Given the description of an element on the screen output the (x, y) to click on. 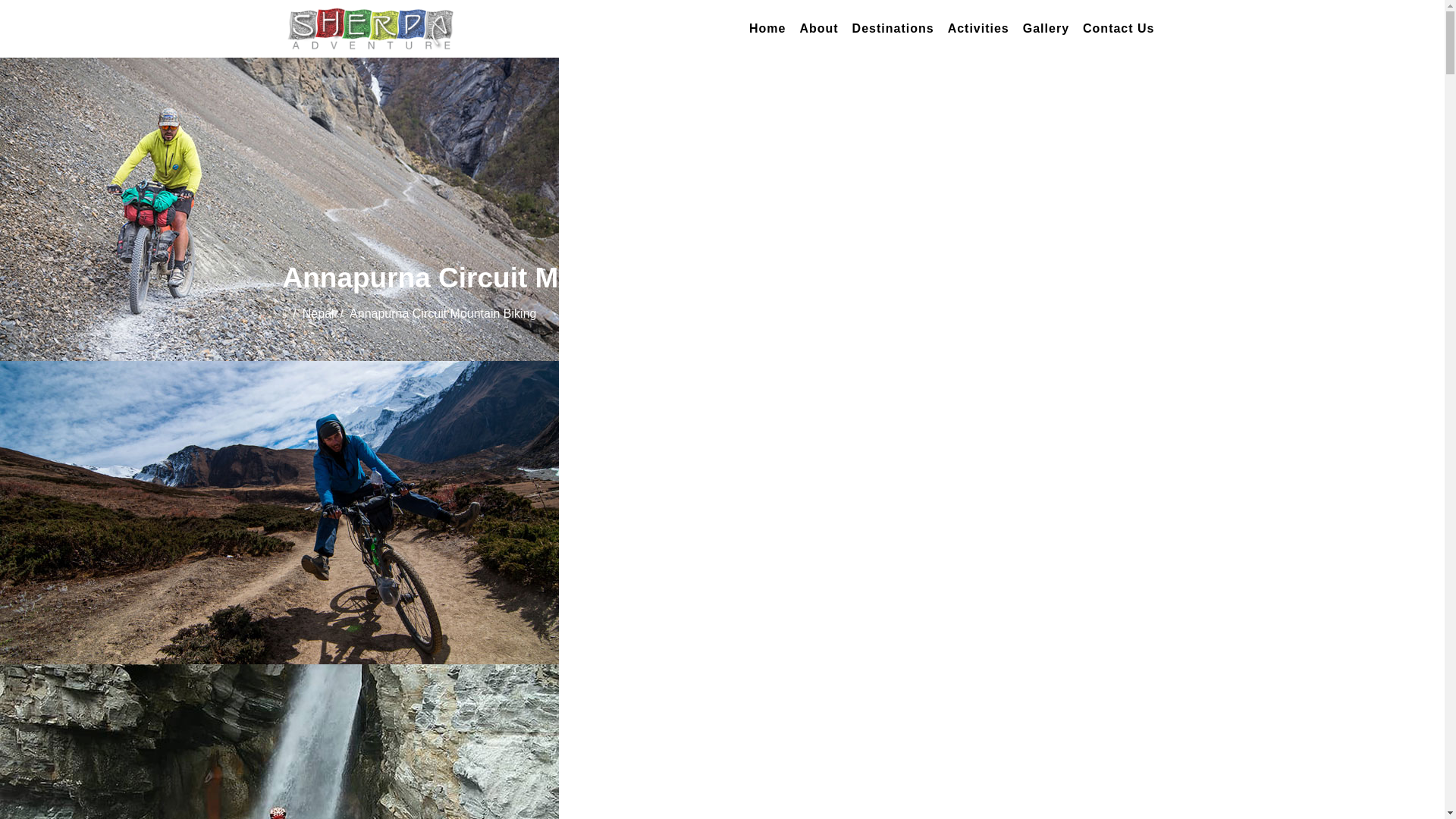
Gallery (1046, 28)
Sherpa Adventure (370, 28)
Annapurna Circuit Mountain Biking (442, 313)
Destinations (893, 28)
Nepal (318, 313)
Activities (979, 28)
About (819, 28)
Contact Us (1119, 28)
